Given the description of an element on the screen output the (x, y) to click on. 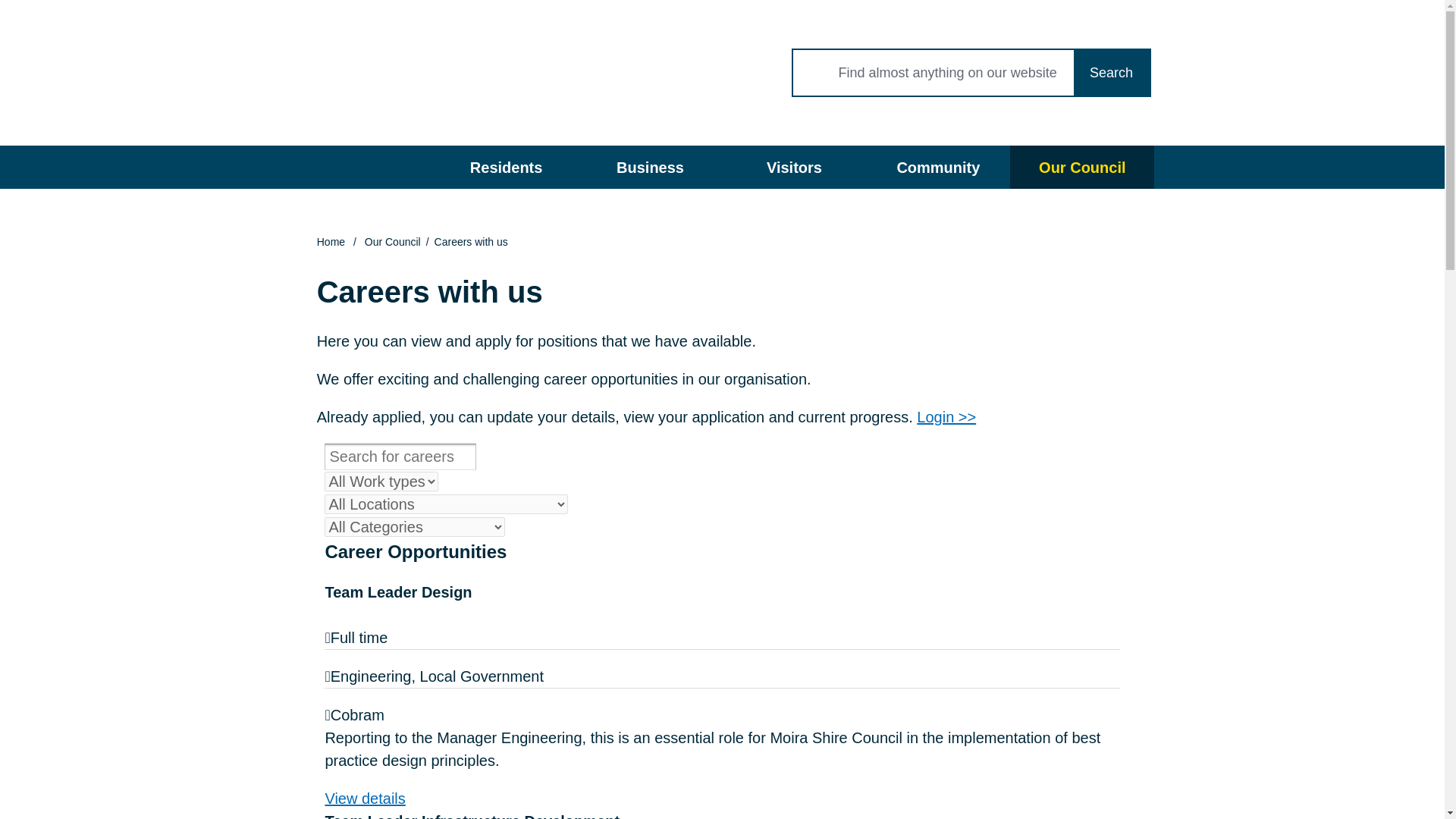
Search (1112, 72)
Search (1112, 72)
Search (1112, 72)
Residents (505, 167)
Sub-menu (555, 167)
Moira Shire Council - Home - Logo (365, 72)
Home (361, 167)
